Given the description of an element on the screen output the (x, y) to click on. 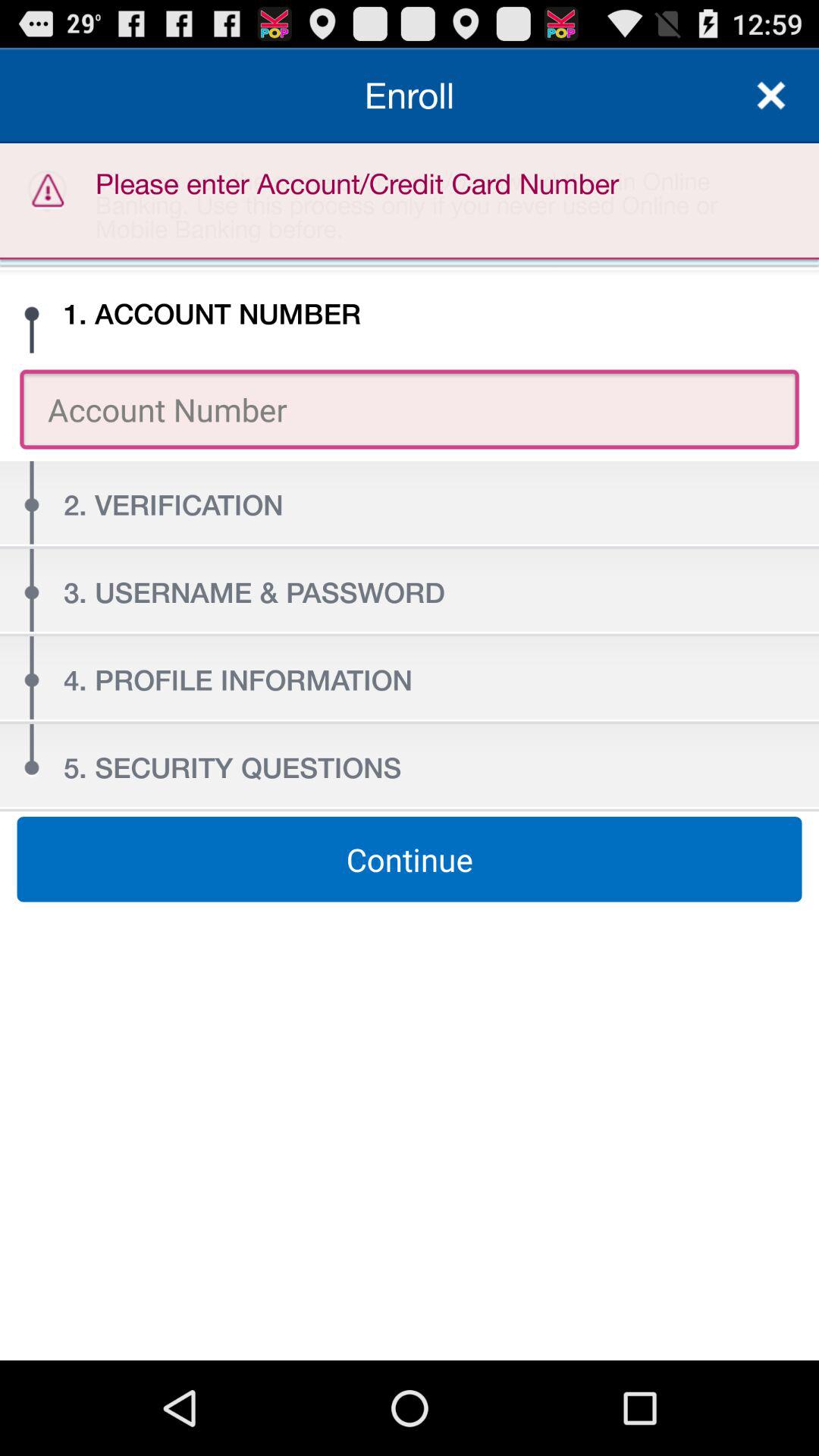
turn off the icon above you can use icon (771, 95)
